Given the description of an element on the screen output the (x, y) to click on. 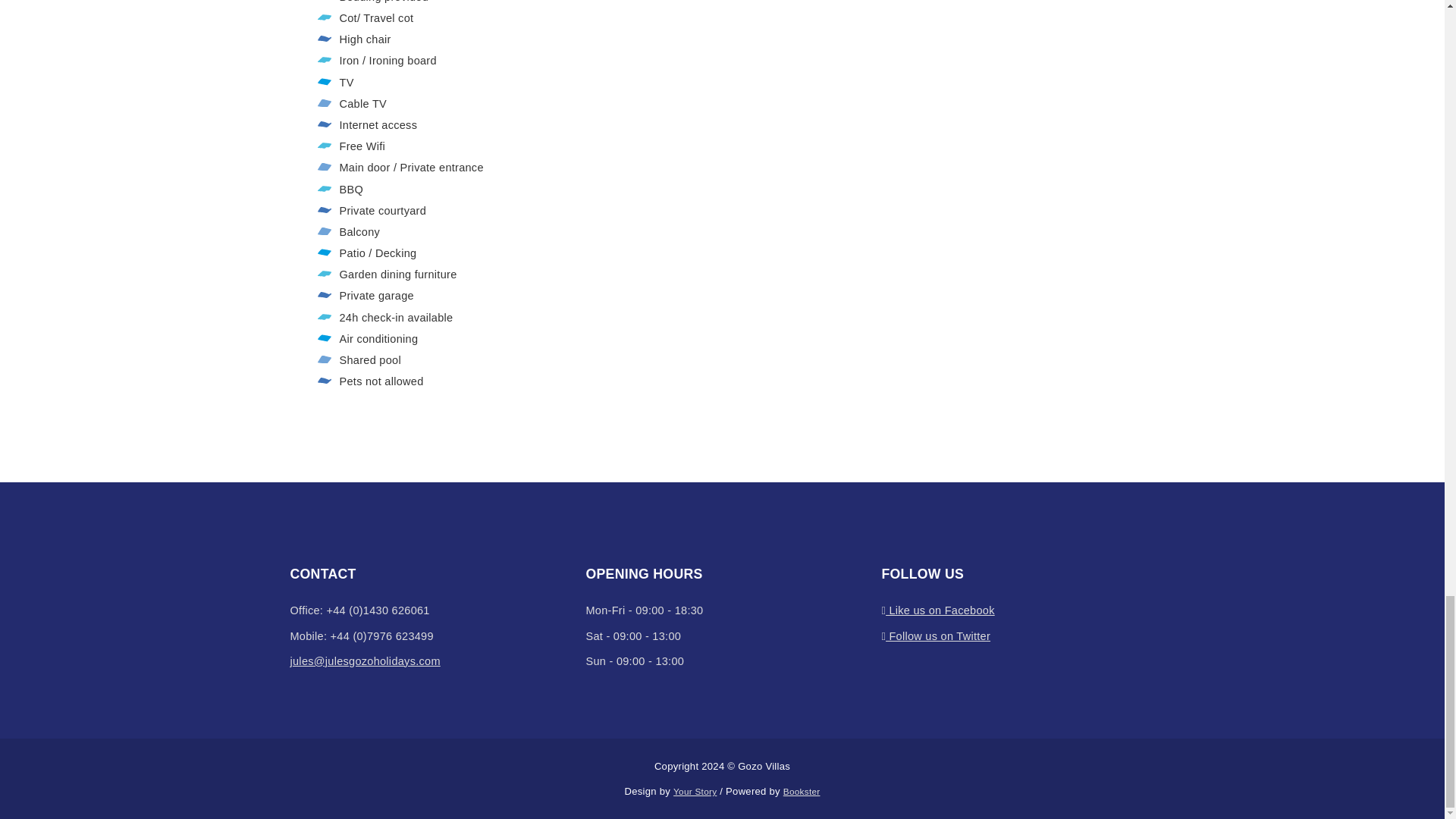
Your Story (694, 791)
Bookster (802, 791)
Like us on Facebook (937, 610)
Follow us on Twitter (935, 635)
